Given the description of an element on the screen output the (x, y) to click on. 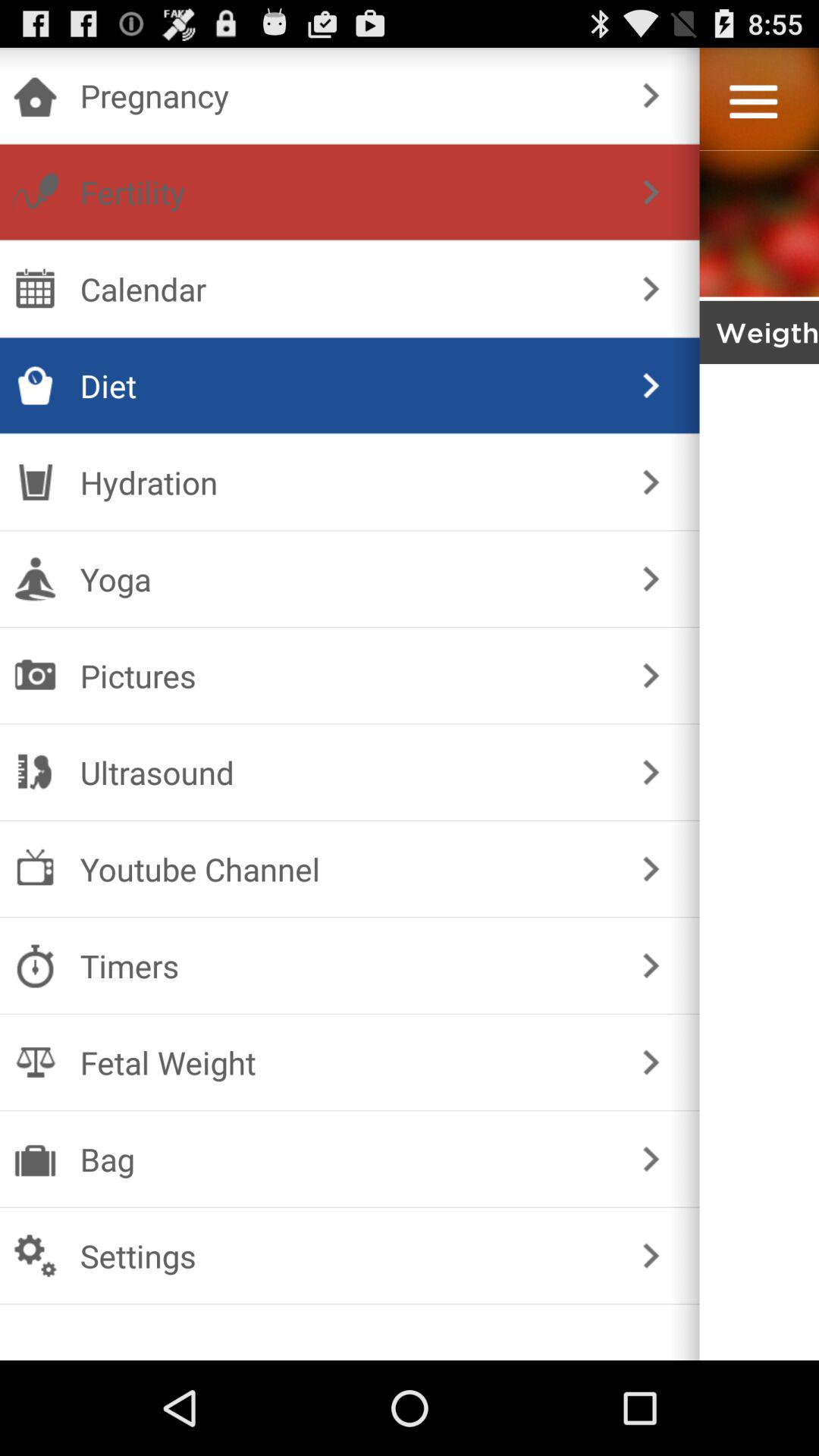
select the checkbox above the bag item (346, 1062)
